Given the description of an element on the screen output the (x, y) to click on. 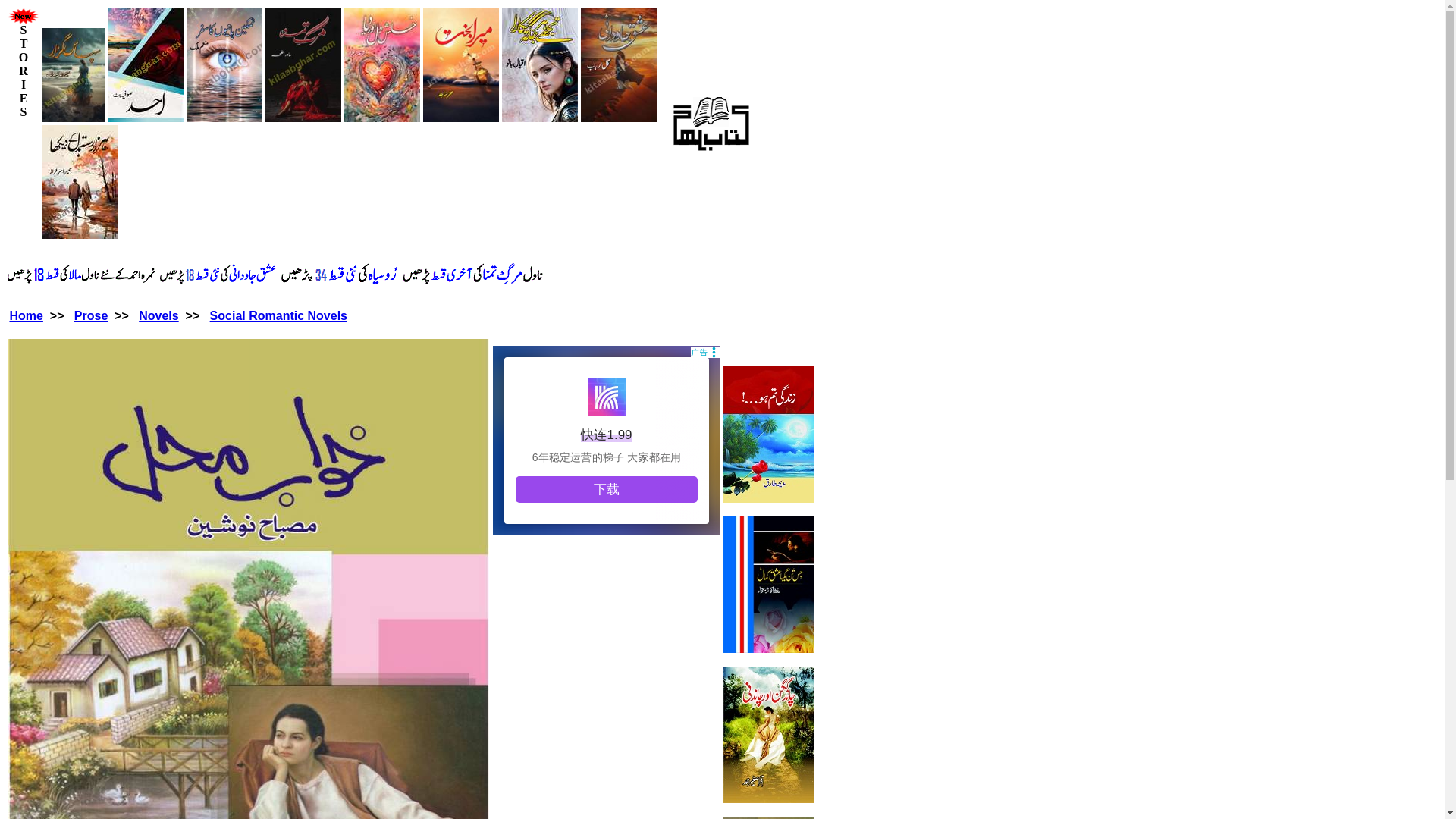
Novels (157, 315)
Take you to the urdu prose page (90, 315)
Social Romantic Novels (278, 315)
Main Page for all kinds of novel (157, 315)
Home (25, 315)
Advertisement (606, 440)
Take you to the home page (25, 315)
Prose (90, 315)
